Given the description of an element on the screen output the (x, y) to click on. 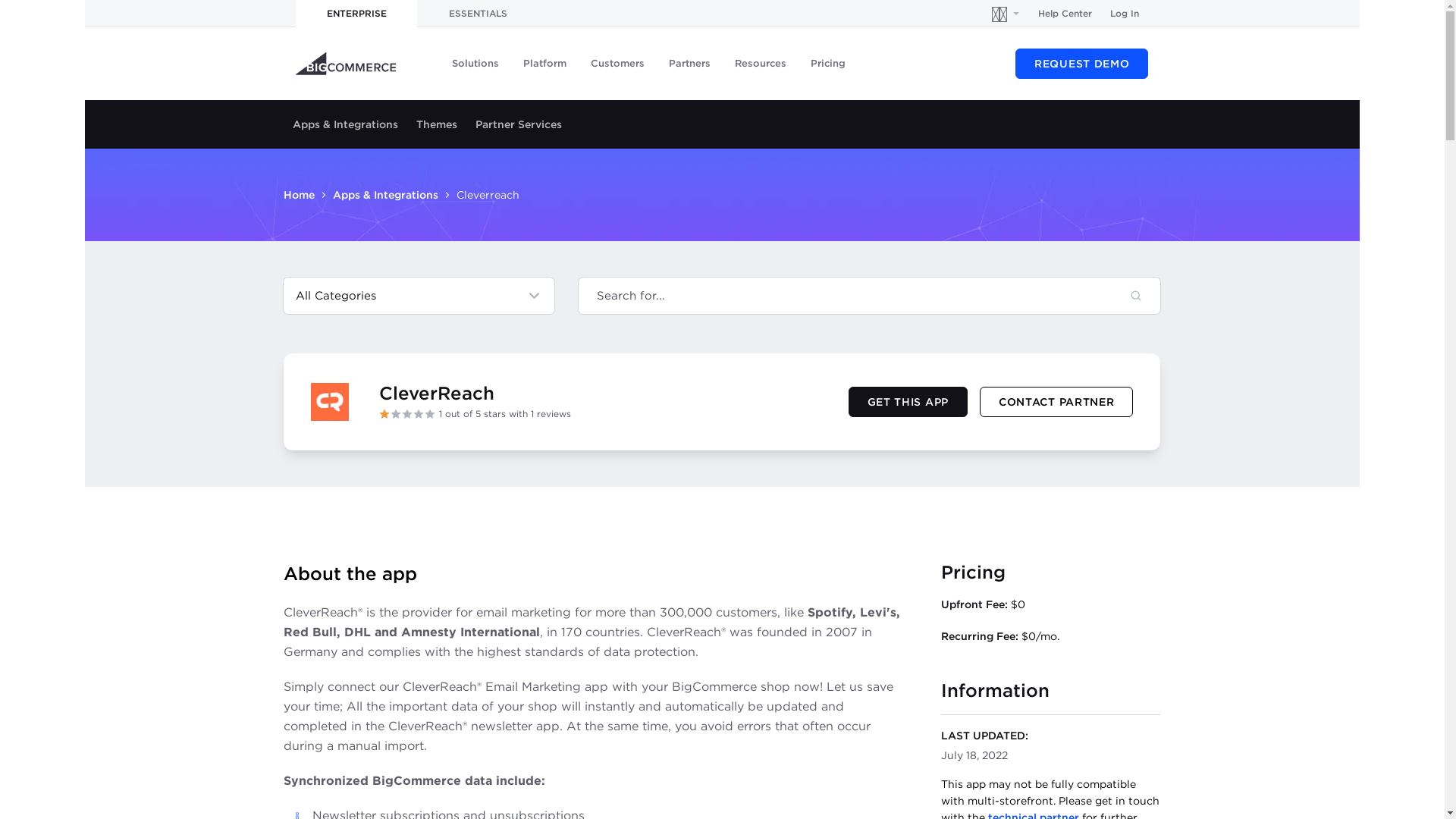
Help Center Element type: text (1065, 13)
REQUEST DEMO Element type: text (1081, 63)
Themes Element type: text (436, 124)
Platform Element type: text (544, 63)
Solutions Element type: text (475, 63)
Home Element type: text (298, 194)
Log In Element type: text (1124, 13)
Customers Element type: text (617, 63)
GET THIS APP Element type: text (907, 401)
Apps & Integrations Element type: text (385, 194)
Resources Element type: text (760, 63)
Partner Services Element type: text (518, 124)
Pricing Element type: text (827, 63)
Partners Element type: text (689, 63)
CONTACT PARTNER Element type: text (1056, 401)
ENTERPRISE Element type: text (356, 13)
ESSENTIALS Element type: text (477, 13)
